Given the description of an element on the screen output the (x, y) to click on. 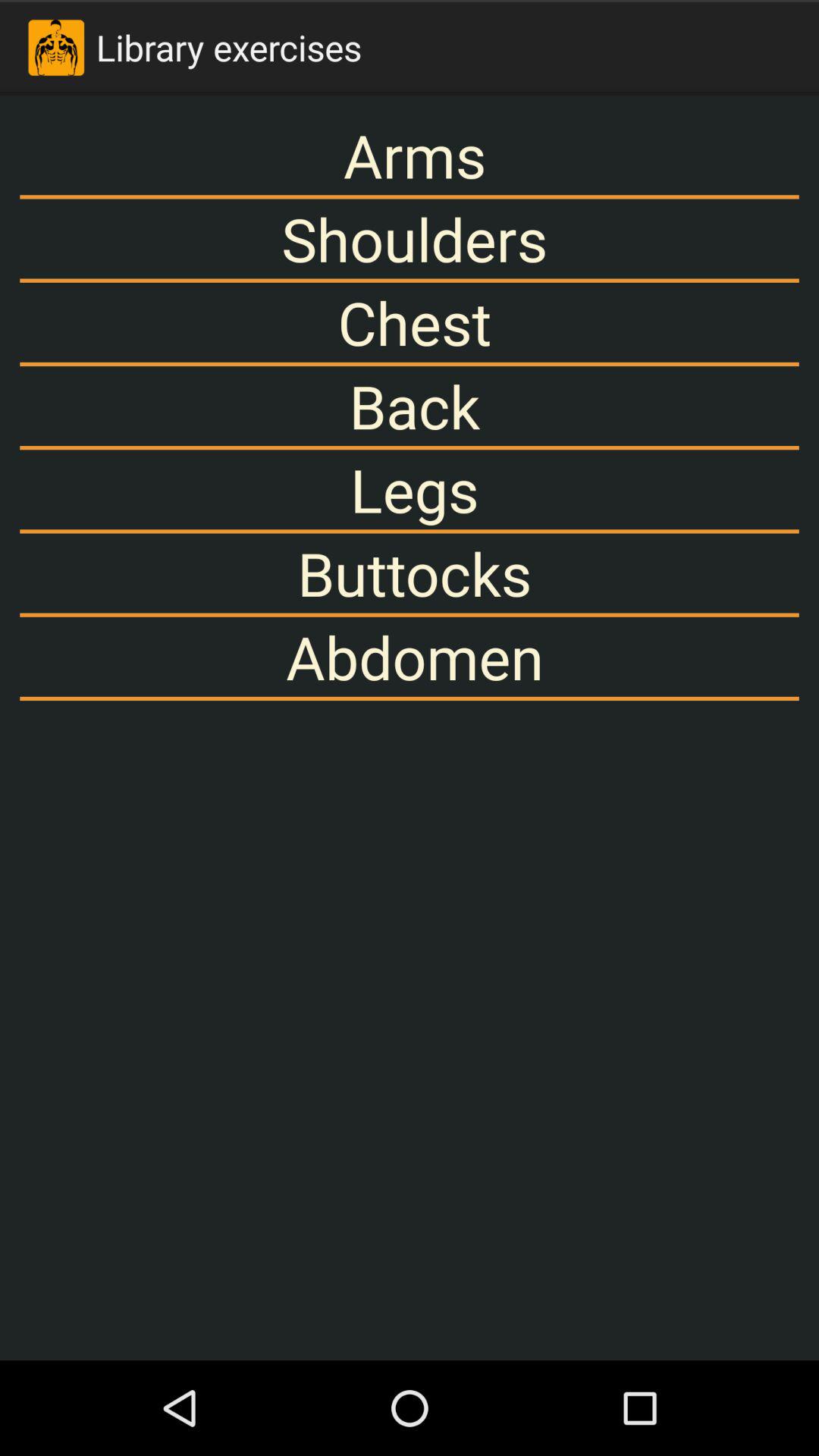
tap the chest app (409, 322)
